Given the description of an element on the screen output the (x, y) to click on. 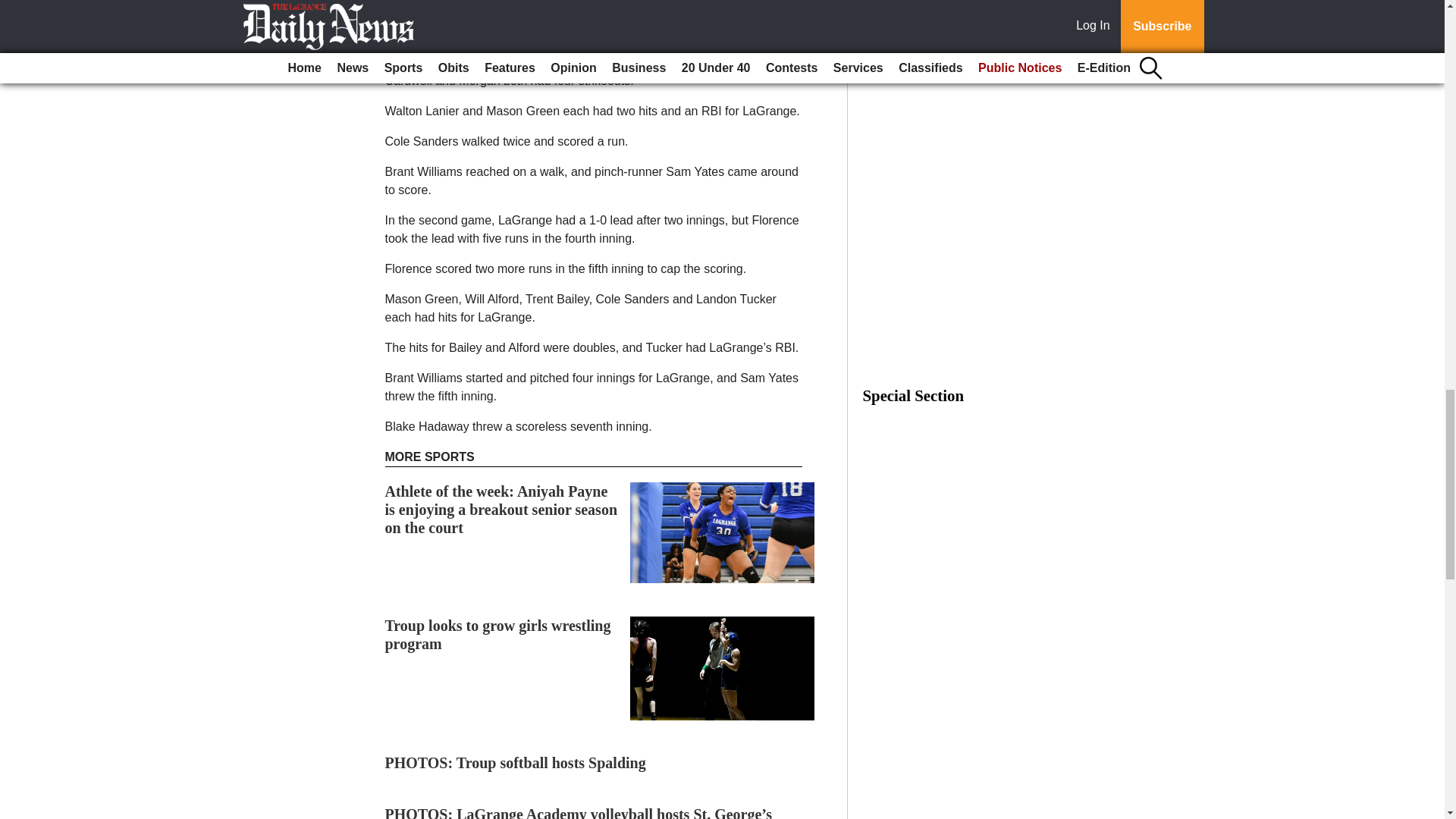
Troup looks to grow girls wrestling program (498, 634)
Troup looks to grow girls wrestling program (498, 634)
PHOTOS: Troup softball hosts Spalding (515, 762)
PHOTOS: Troup softball hosts Spalding (515, 762)
